Given the description of an element on the screen output the (x, y) to click on. 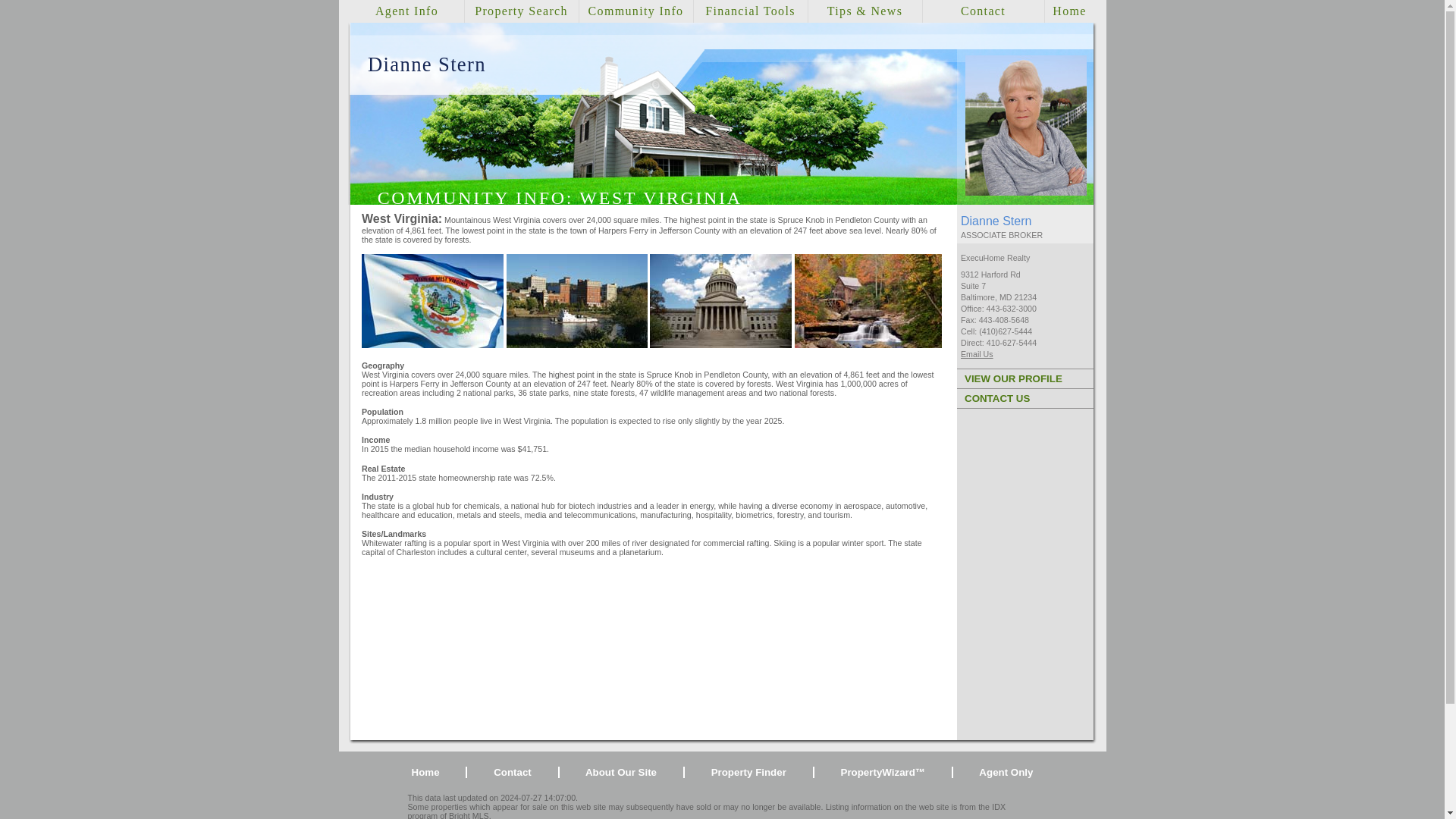
Property Finder (748, 772)
CONTACT US (1024, 398)
Dianne Stern (427, 64)
VIEW OUR PROFILE (1024, 378)
Email (976, 353)
Contact (512, 772)
Contact (983, 11)
Financial Tools (750, 11)
About Our Site (620, 772)
Dianne Stern (1025, 192)
Agent Only (1005, 772)
Property Search (521, 11)
Home (425, 772)
Community Info (635, 11)
Email Us (976, 353)
